Given the description of an element on the screen output the (x, y) to click on. 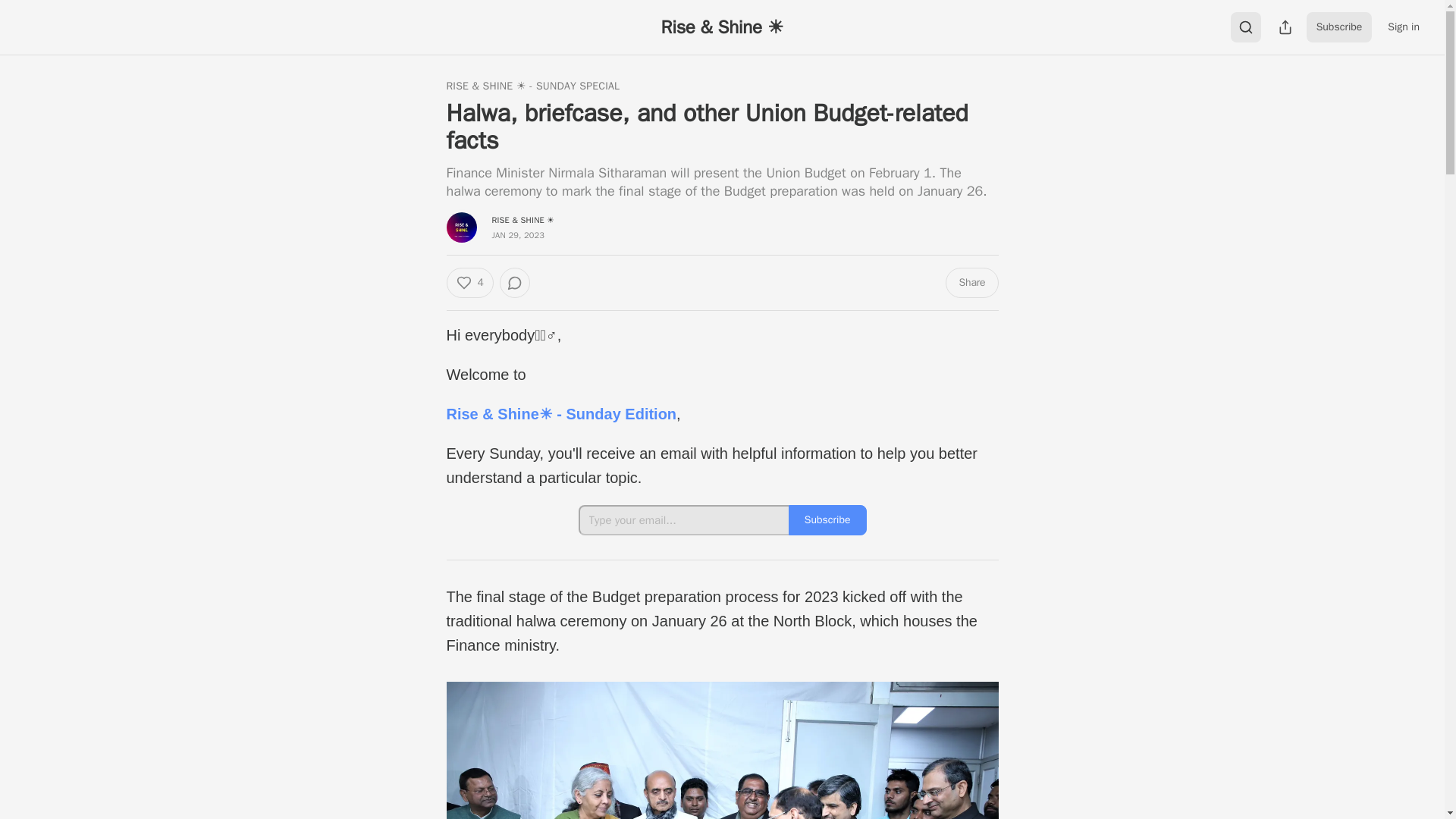
Subscribe (1339, 27)
Subscribe (827, 520)
Sign in (1403, 27)
4 (469, 282)
Union Budget 2023: Halwa ceremony - riseshine.in (721, 750)
Share (970, 282)
